Given the description of an element on the screen output the (x, y) to click on. 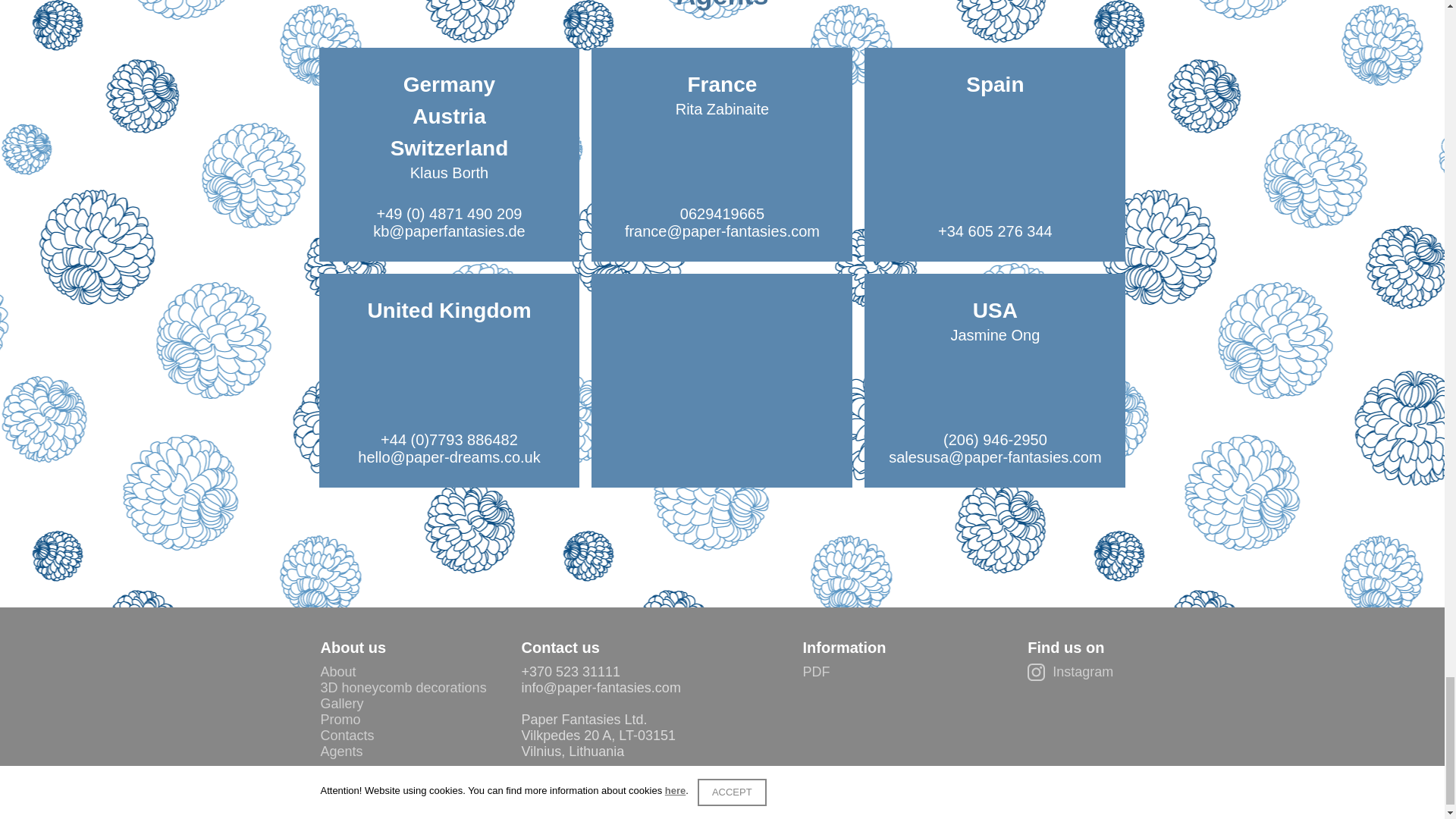
0629419665 (721, 213)
About (337, 671)
